Given the description of an element on the screen output the (x, y) to click on. 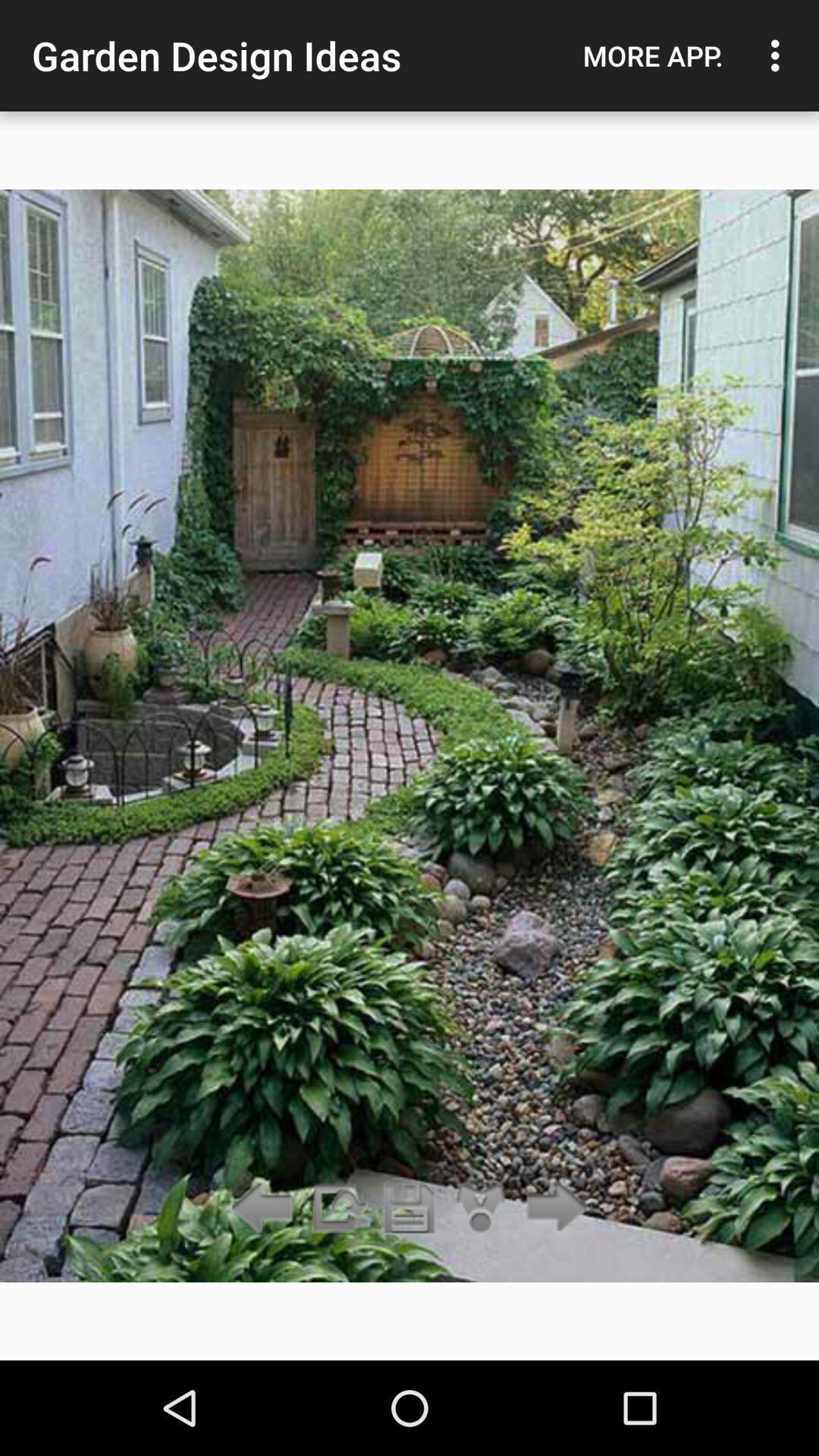
turn on item to the right of garden design ideas (653, 55)
